Given the description of an element on the screen output the (x, y) to click on. 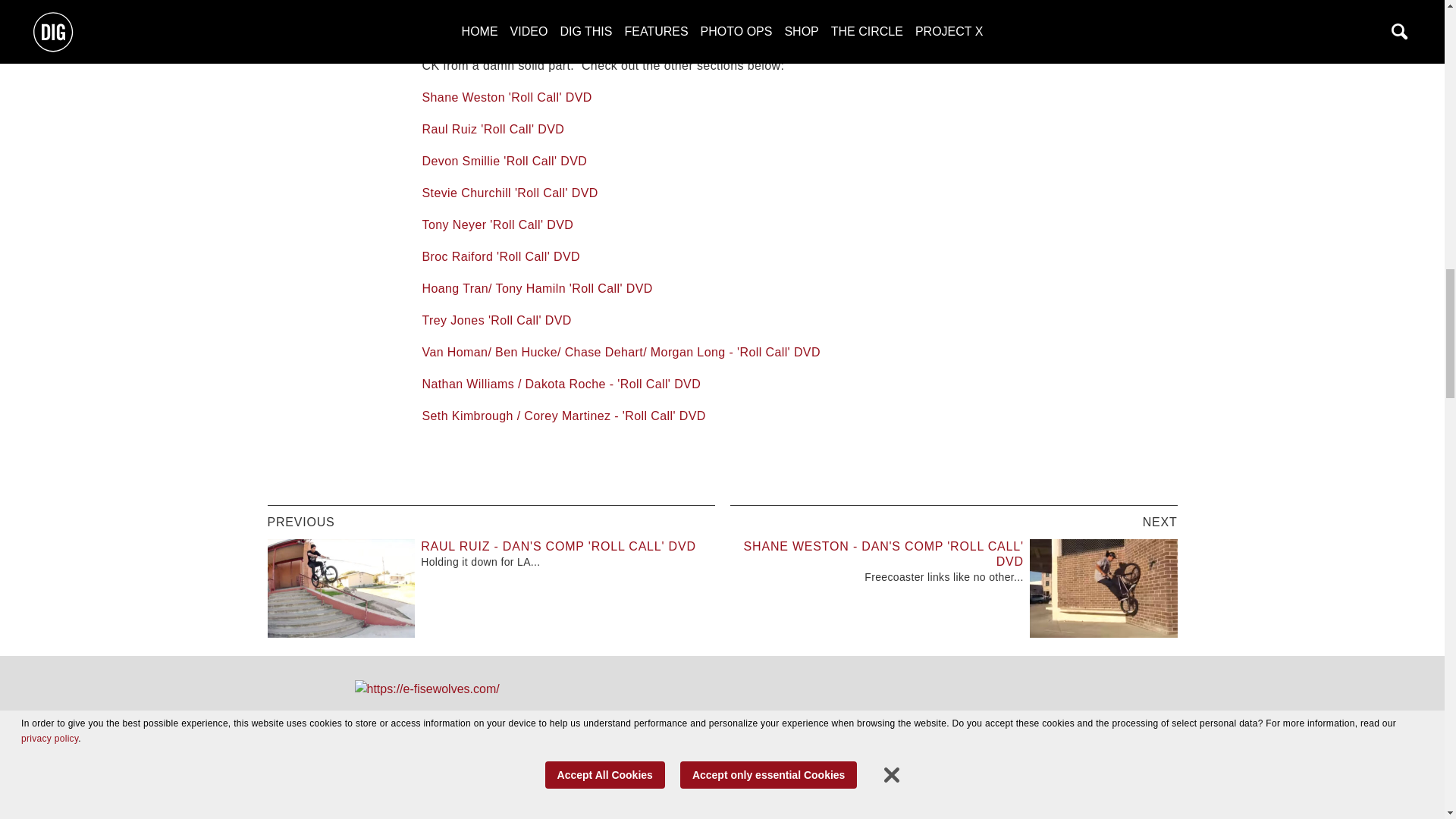
Stevie Churchill 'Roll Call' DVD (509, 192)
Raul Ruiz 'Roll Call' DVD (493, 128)
Trey Jones 'Roll Call' DVD (496, 319)
Broc Raiford 'Roll Call' DVD (500, 256)
Devon Smillie 'Roll Call' DVD (504, 160)
Shane Weston 'Roll Call' DVD (506, 97)
Dan's Comp (669, 25)
Premium (811, 45)
Tony Neyer 'Roll Call' DVD (497, 224)
